Given the description of an element on the screen output the (x, y) to click on. 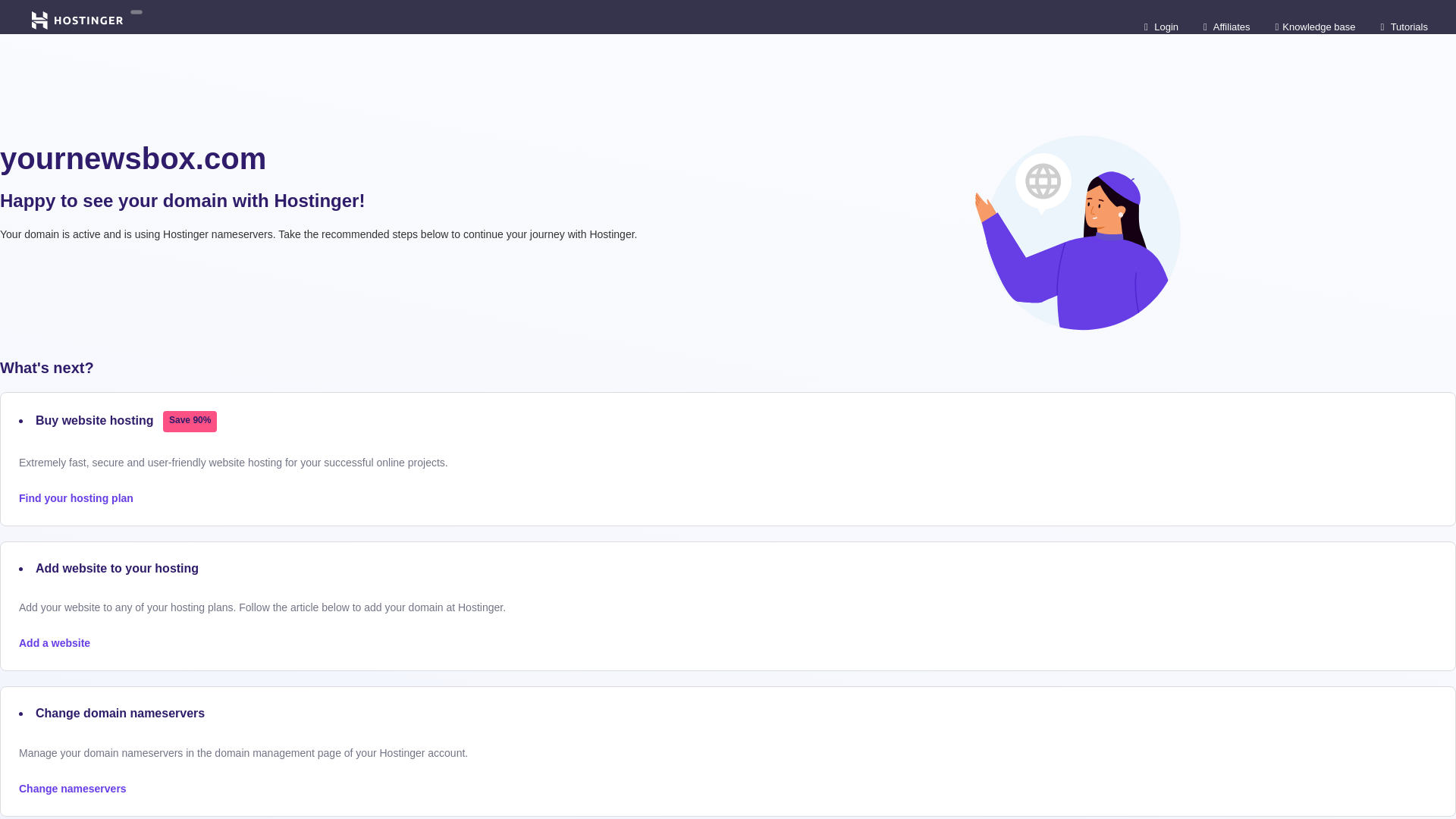
Affiliates (1226, 26)
Add a website (54, 643)
Find your hosting plan (75, 498)
Tutorials (1404, 26)
Login (1161, 26)
Change nameservers (72, 788)
Knowledge base (1315, 26)
